Given the description of an element on the screen output the (x, y) to click on. 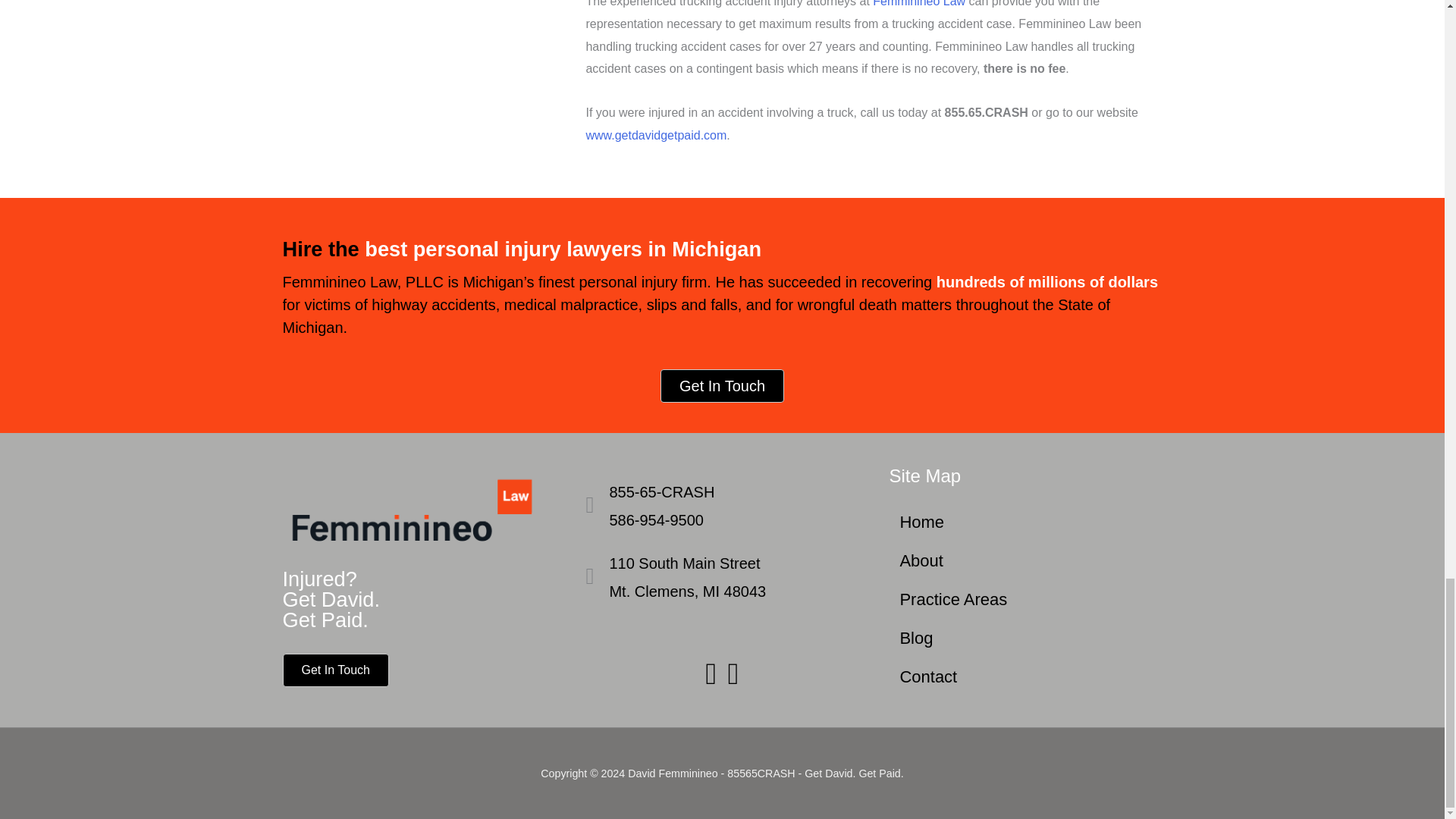
Femminineo Law logo1 (418, 508)
